Given the description of an element on the screen output the (x, y) to click on. 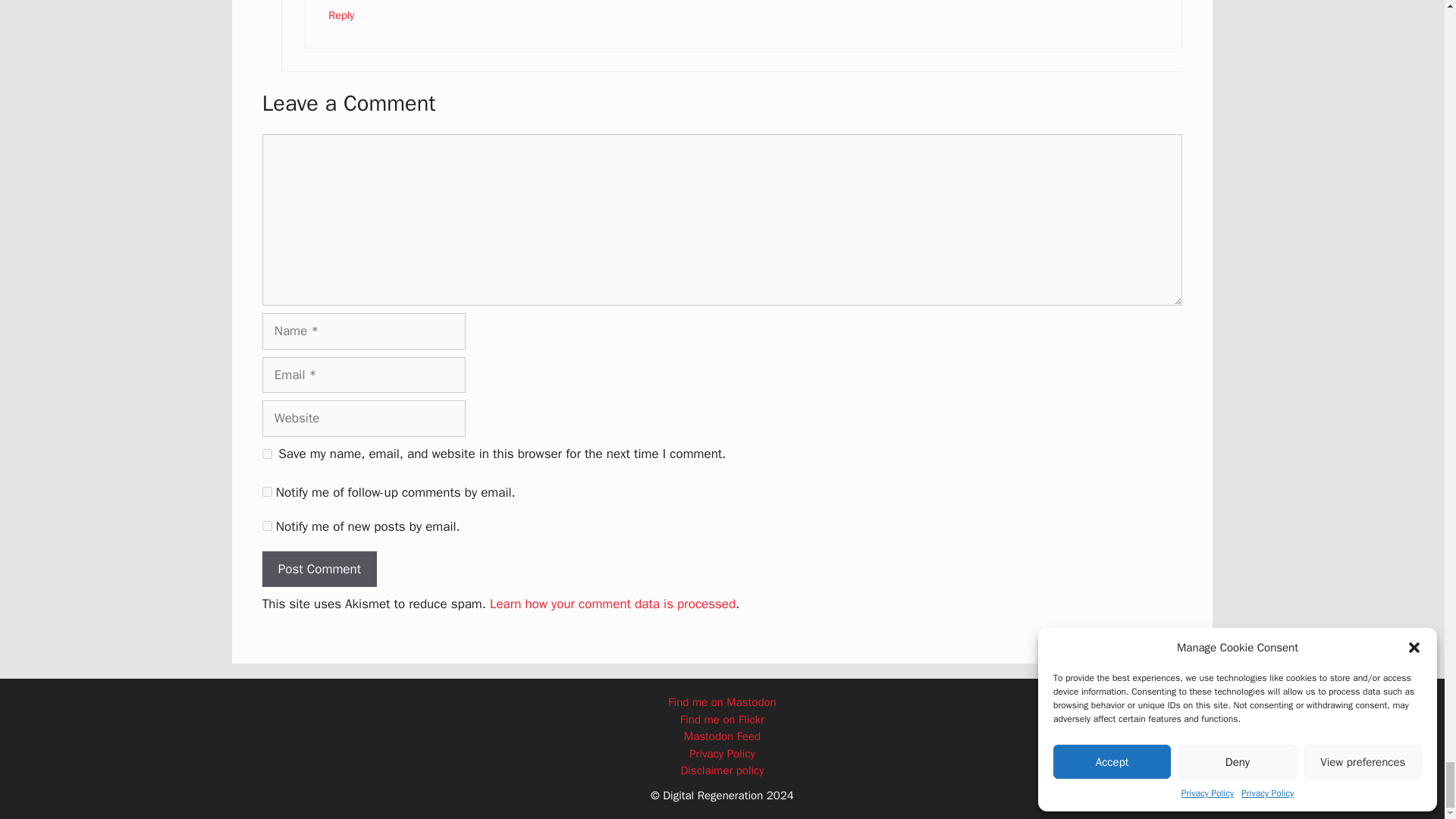
subscribe (267, 491)
yes (267, 453)
subscribe (267, 525)
Post Comment (319, 569)
